Given the description of an element on the screen output the (x, y) to click on. 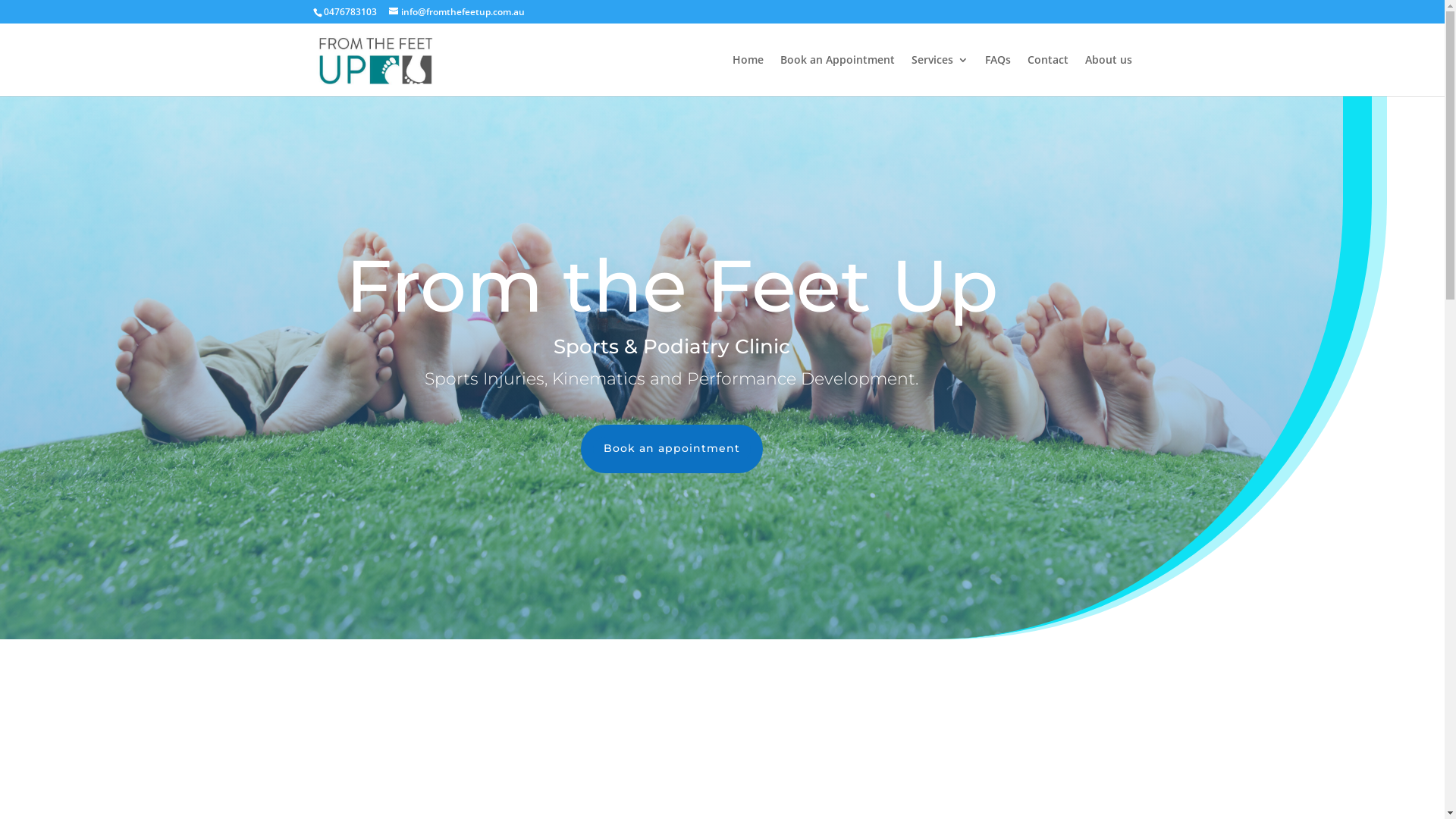
0476783103 Element type: text (349, 11)
Contact Element type: text (1046, 75)
Services Element type: text (939, 75)
info@fromthefeetup.com.au Element type: text (456, 11)
About us Element type: text (1107, 75)
FAQs Element type: text (997, 75)
Home Element type: text (747, 75)
Book an Appointment Element type: text (836, 75)
Book an appointment Element type: text (671, 448)
